Given the description of an element on the screen output the (x, y) to click on. 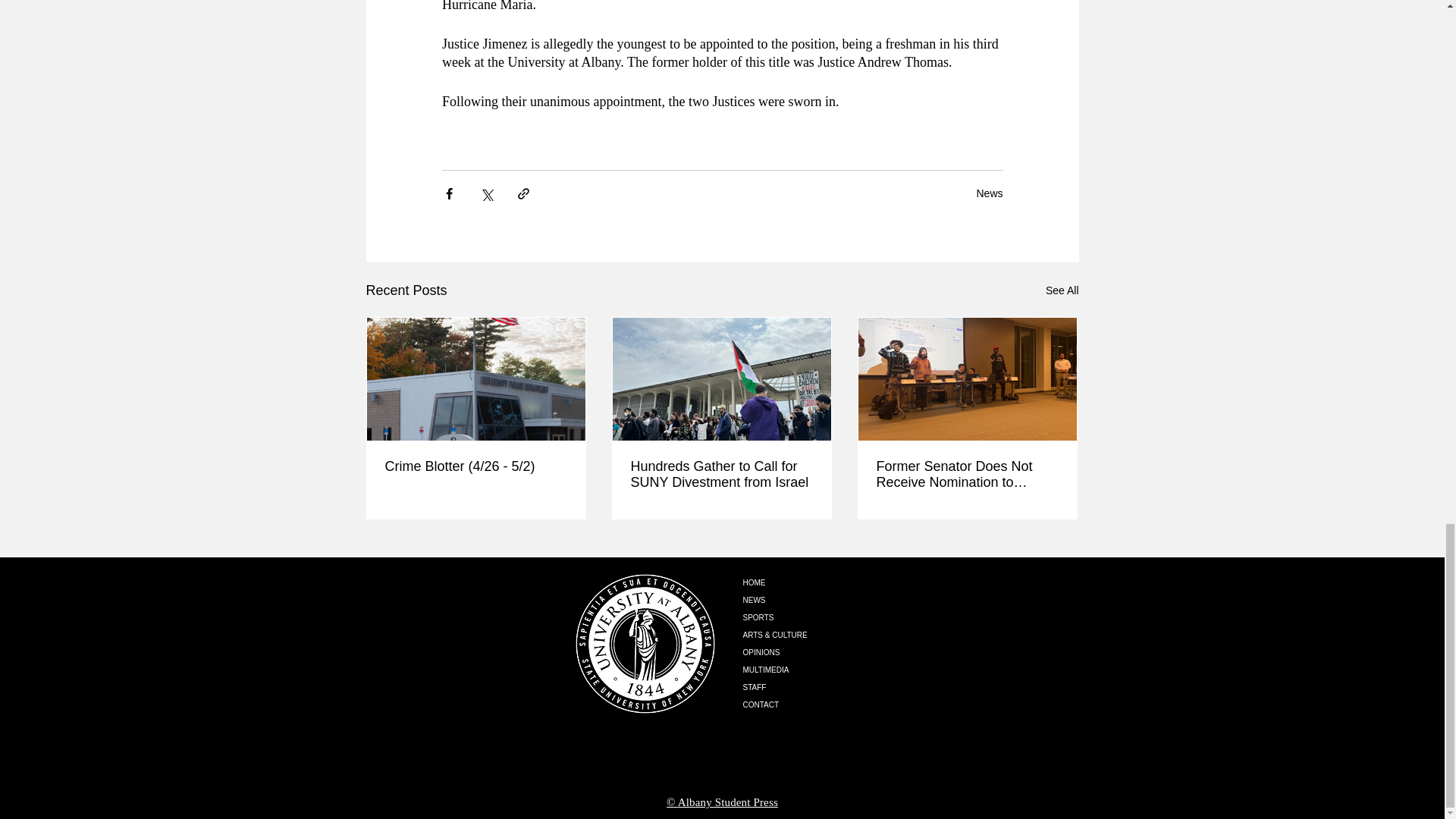
Hundreds Gather to Call for SUNY Divestment from Israel (721, 474)
News (989, 193)
See All (1061, 291)
